Given the description of an element on the screen output the (x, y) to click on. 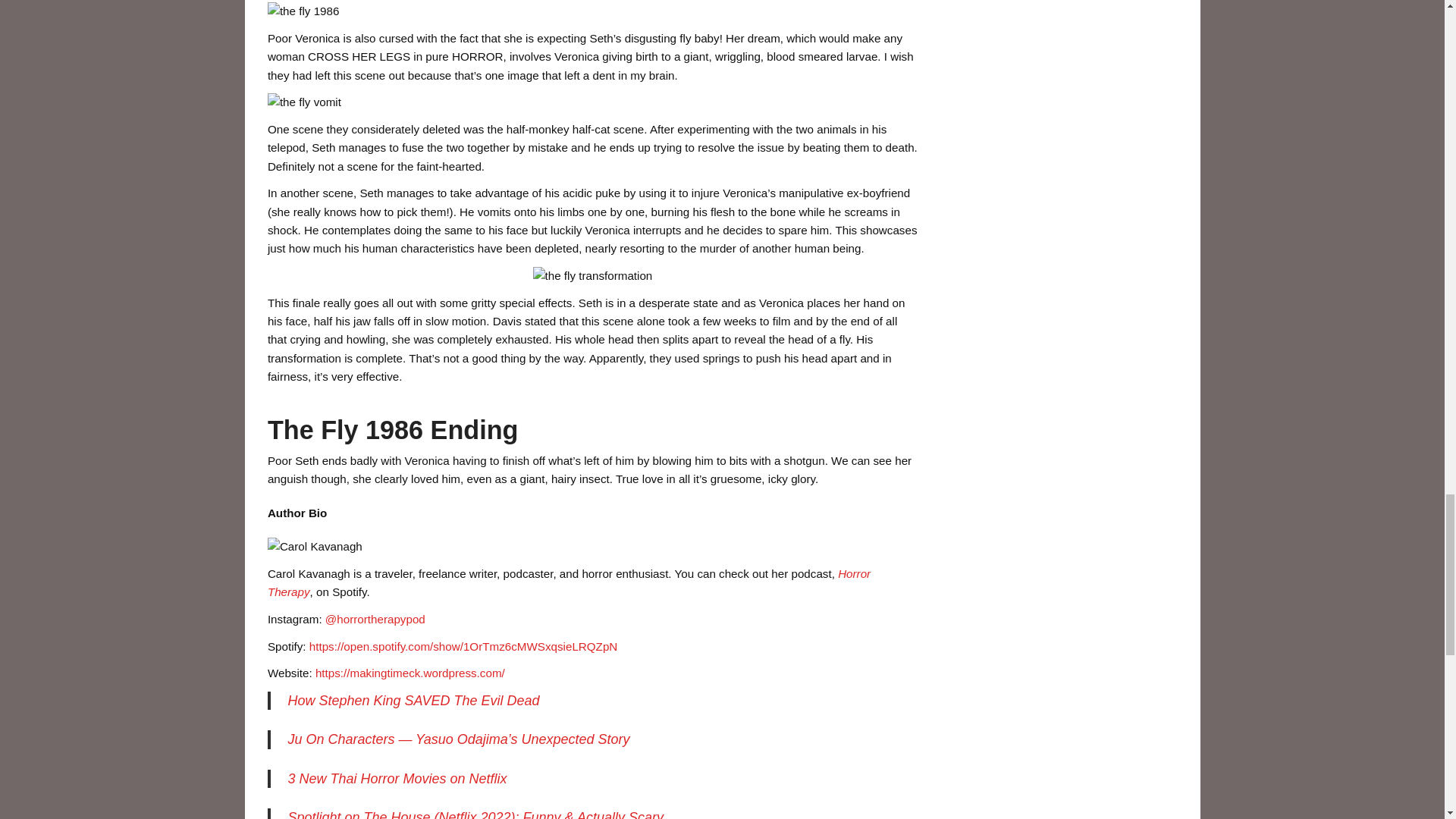
3 New Thai Horror Movies on Netflix (396, 778)
How Stephen King SAVED The Evil Dead (412, 700)
Therapy (288, 591)
Horror (854, 573)
